Given the description of an element on the screen output the (x, y) to click on. 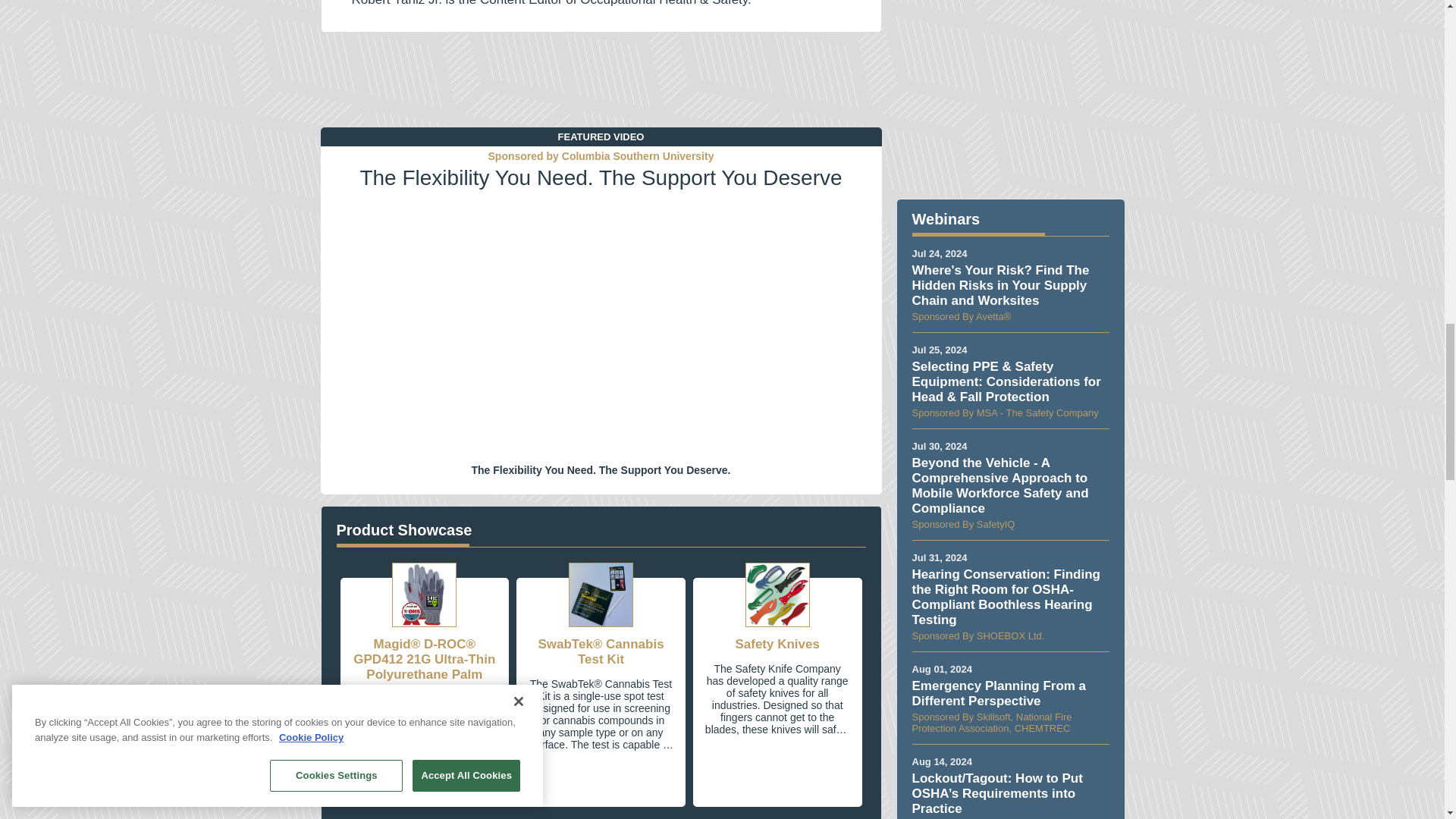
3rd party ad content (1010, 91)
3rd party ad content (600, 81)
YouTube video player (600, 319)
